Given the description of an element on the screen output the (x, y) to click on. 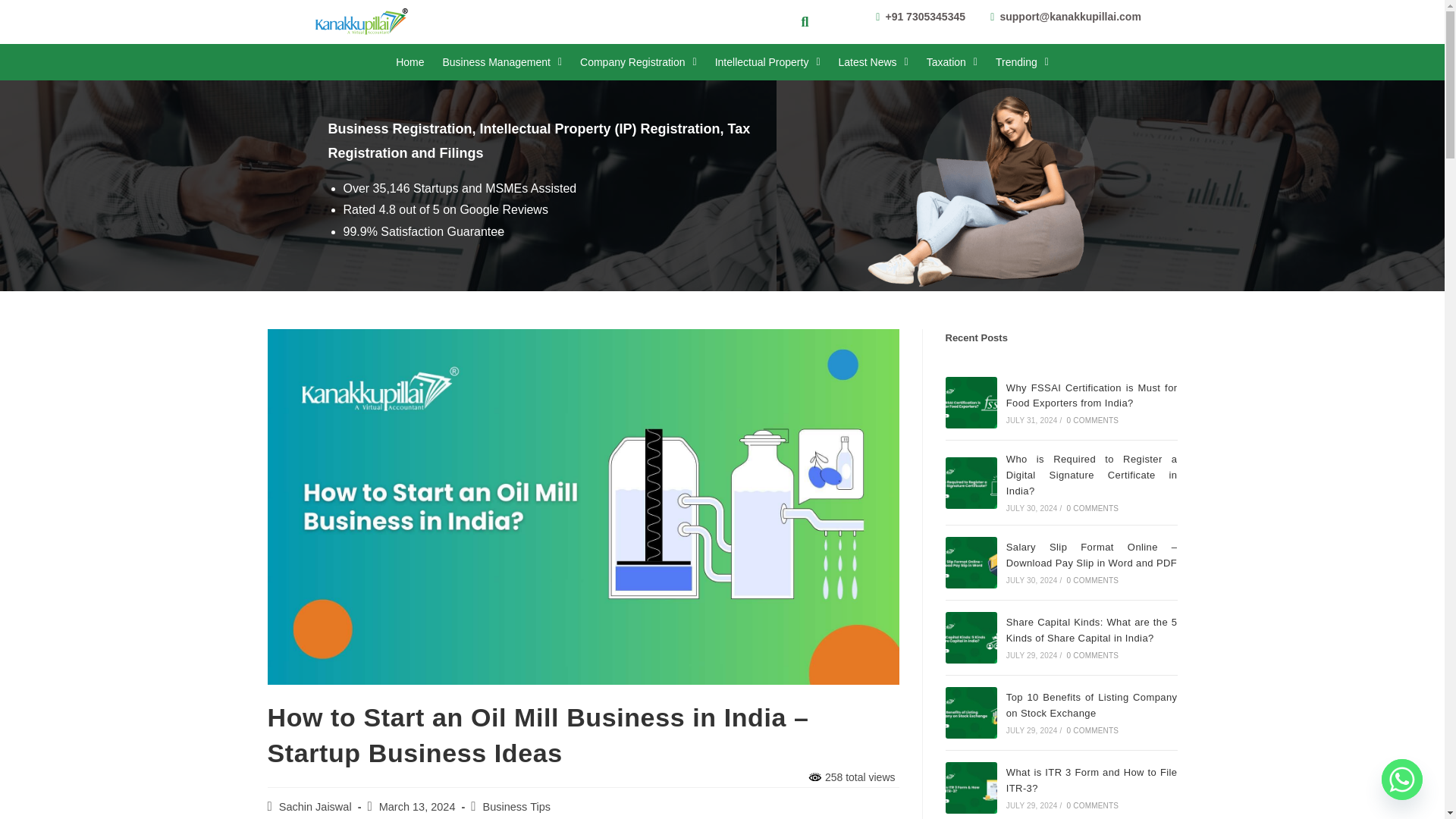
What is ITR 3 Form and How to File ITR-3? (969, 788)
Posts by Sachin Jaiswal (315, 806)
Intellectual Property (767, 61)
Taxation (952, 61)
Business Management (501, 61)
Latest News (873, 61)
Search (798, 22)
Company Registration (638, 61)
Home (409, 61)
Top 10 Benefits of Listing Company on Stock Exchange (969, 712)
